Given the description of an element on the screen output the (x, y) to click on. 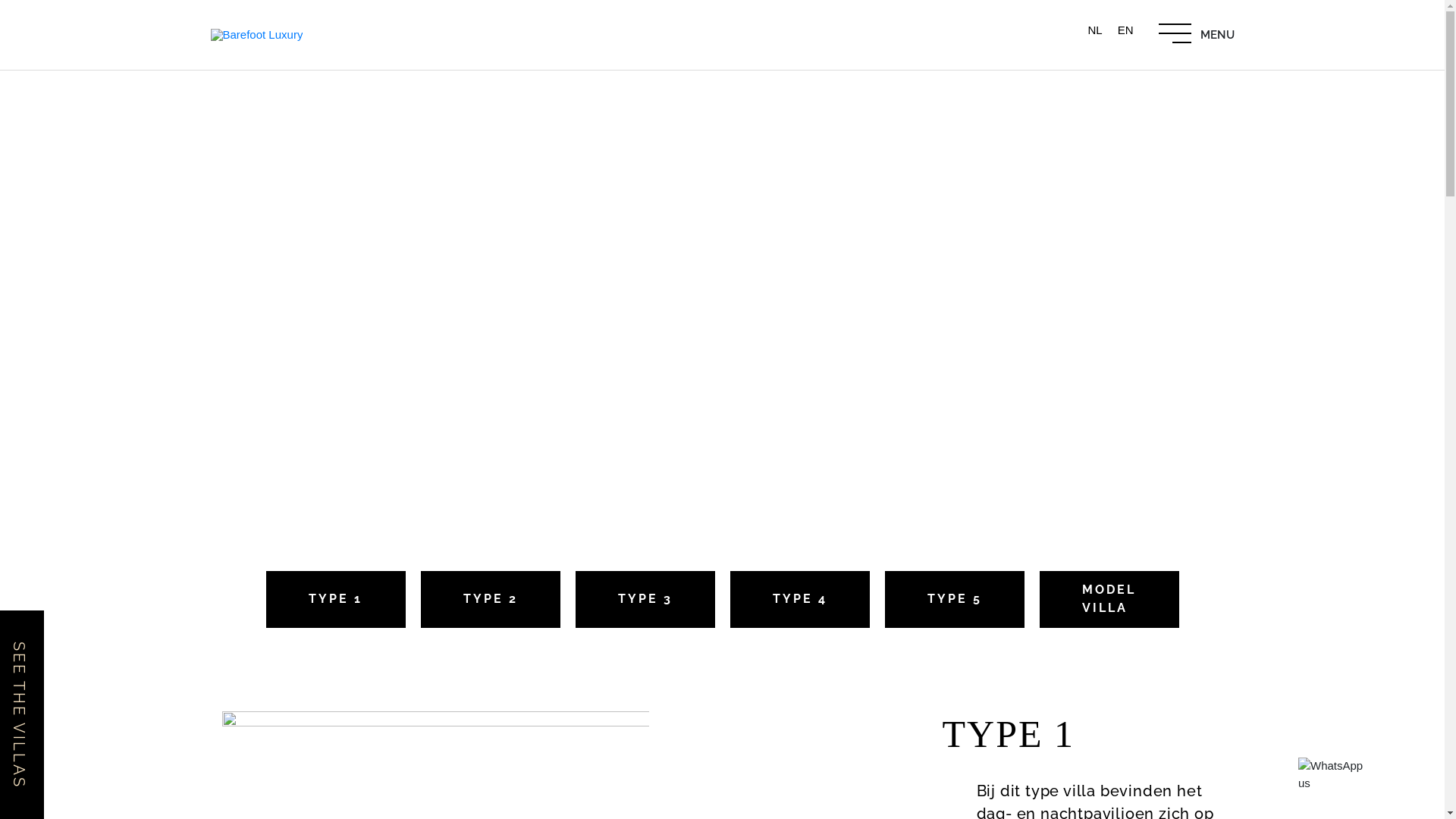
MODEL
VILLA Element type: text (1108, 599)
TYPE 2 Element type: text (489, 599)
WhatsApp us Element type: hover (1334, 774)
NL Element type: text (1094, 40)
EN Element type: text (1125, 29)
TYPE 4 Element type: text (799, 599)
TYPE 1 Element type: text (334, 599)
TYPE 5 Element type: text (953, 599)
TYPE 3 Element type: text (644, 599)
